Given the description of an element on the screen output the (x, y) to click on. 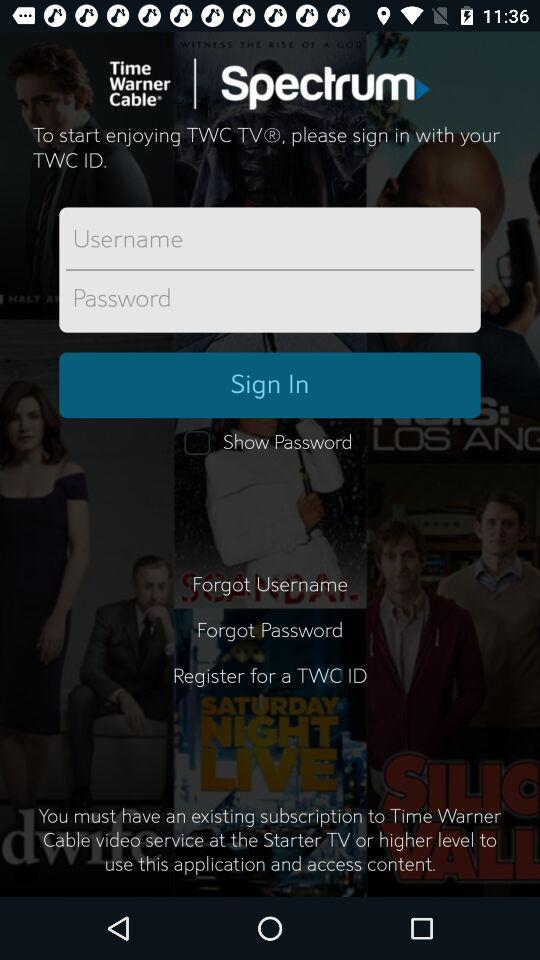
scroll to the register for a (270, 688)
